Given the description of an element on the screen output the (x, y) to click on. 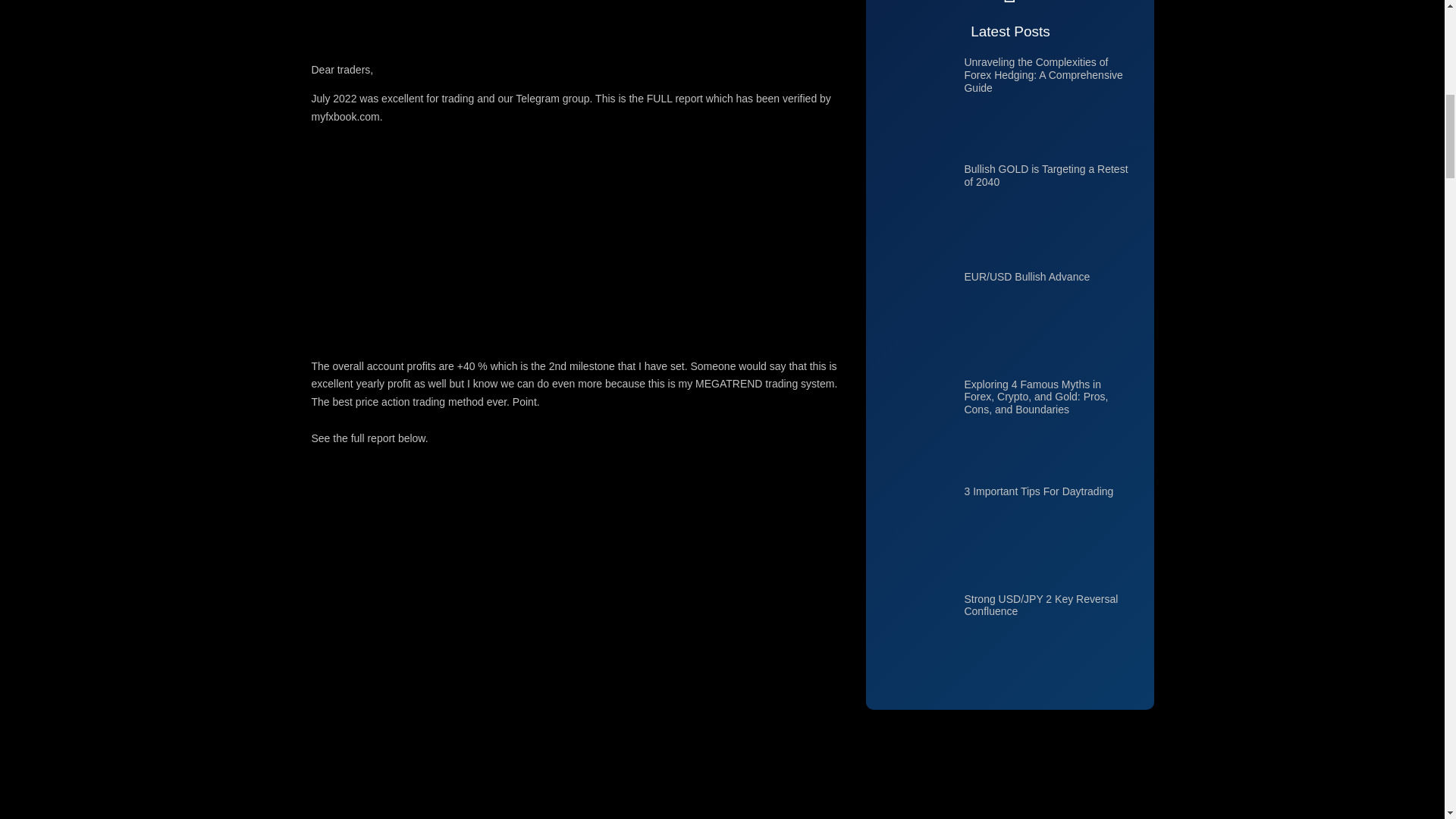
Latest Posts (1009, 31)
myfxbook.com (344, 116)
Bullish GOLD is Targeting a Retest of 2040 (1044, 175)
Telegram (537, 98)
